Given the description of an element on the screen output the (x, y) to click on. 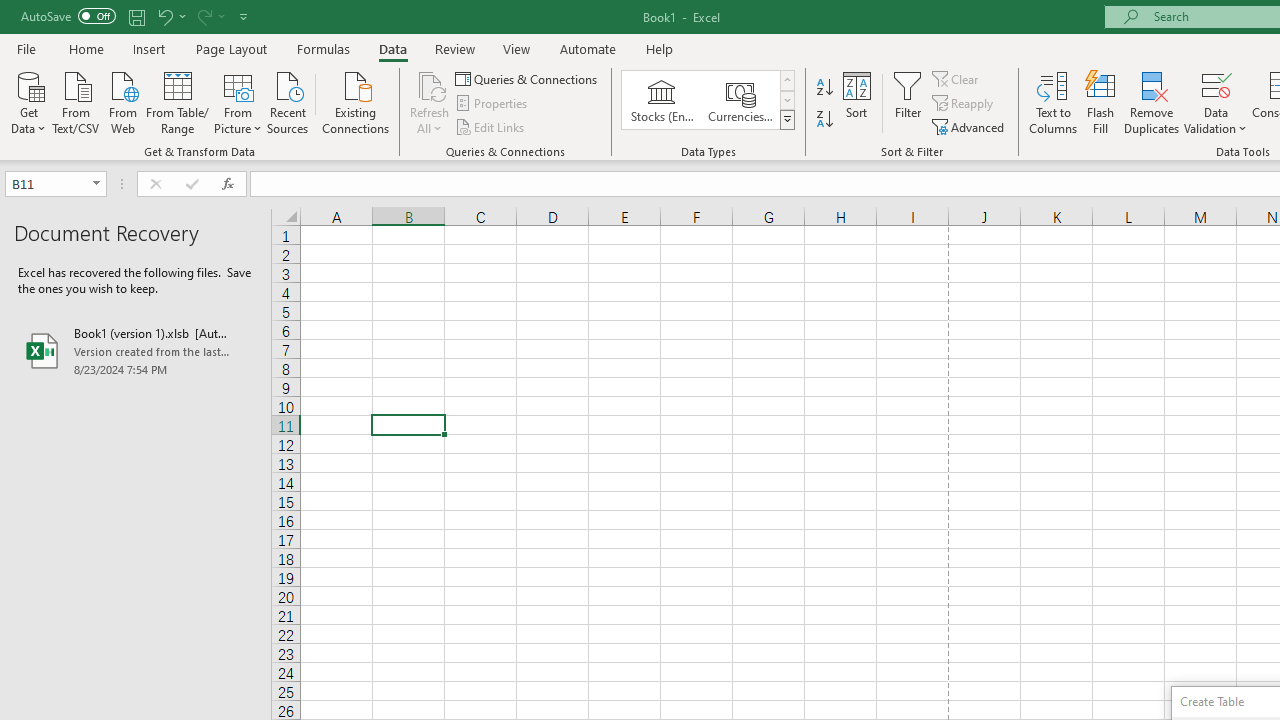
Undo (170, 15)
Open (96, 183)
Row Down (786, 100)
Queries & Connections (527, 78)
Page Layout (230, 48)
From Picture (238, 101)
From Table/Range (177, 101)
Data Validation... (1215, 84)
Automate (588, 48)
Flash Fill (1101, 102)
Existing Connections (355, 101)
Data Validation... (1215, 102)
Formulas (323, 48)
Customize Quick Access Toolbar (244, 15)
Edit Links (491, 126)
